Given the description of an element on the screen output the (x, y) to click on. 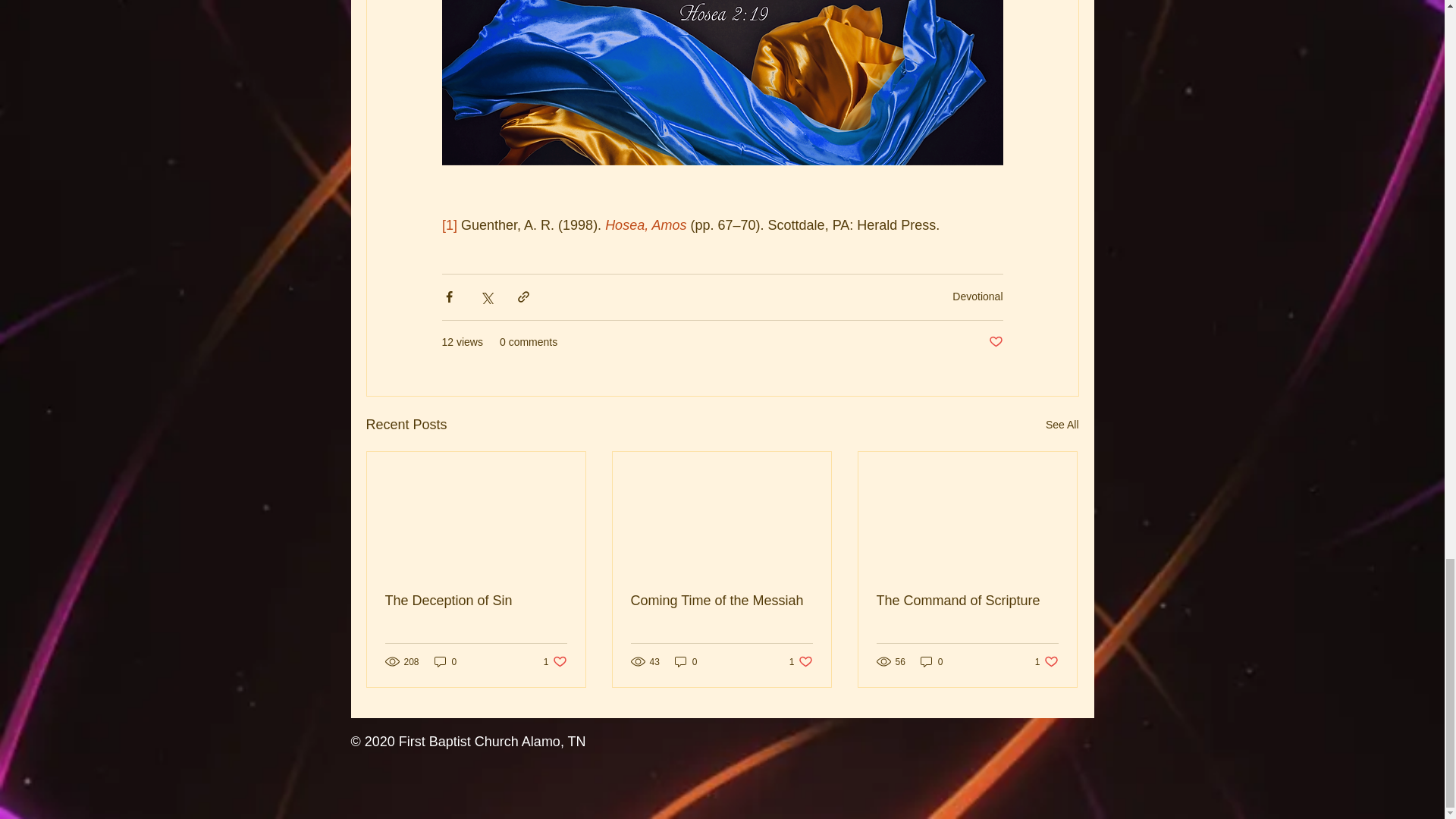
0 (685, 661)
The Deception of Sin (476, 600)
Hosea, Amos (645, 224)
Post not marked as liked (995, 342)
0 (555, 661)
Coming Time of the Messiah (445, 661)
See All (721, 600)
Devotional (1061, 424)
